Given the description of an element on the screen output the (x, y) to click on. 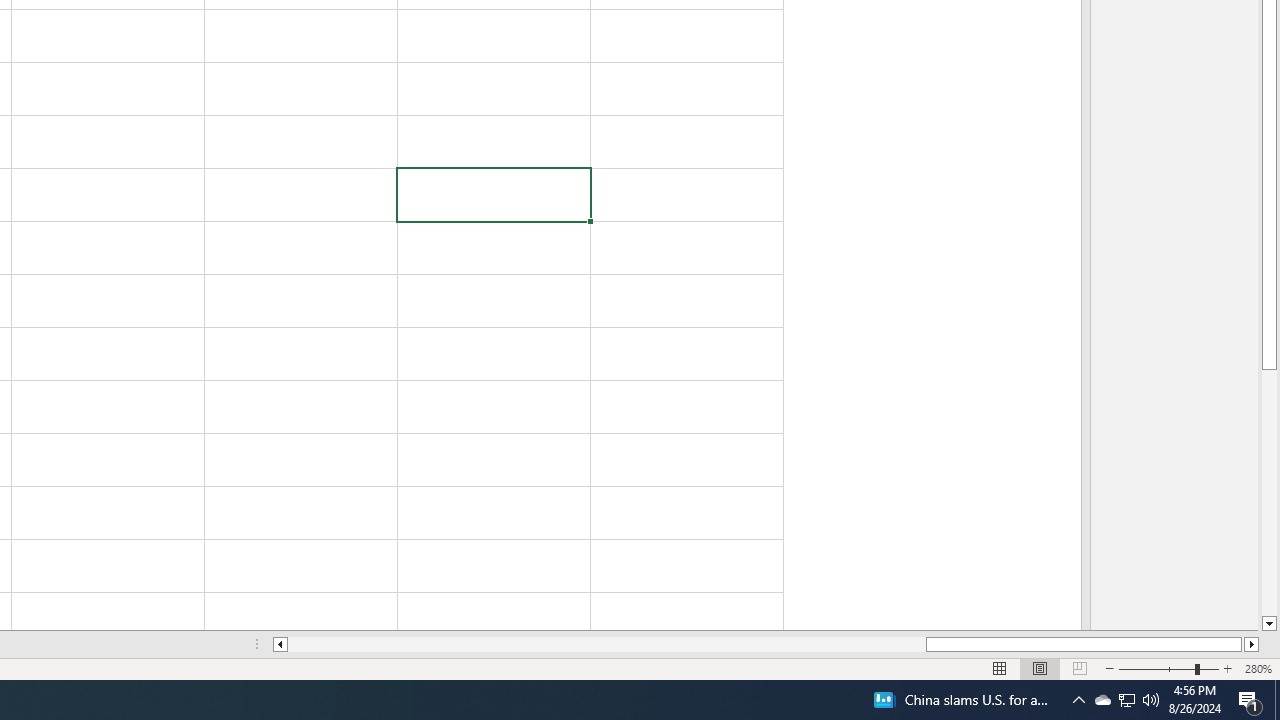
Page left (606, 644)
